Given the description of an element on the screen output the (x, y) to click on. 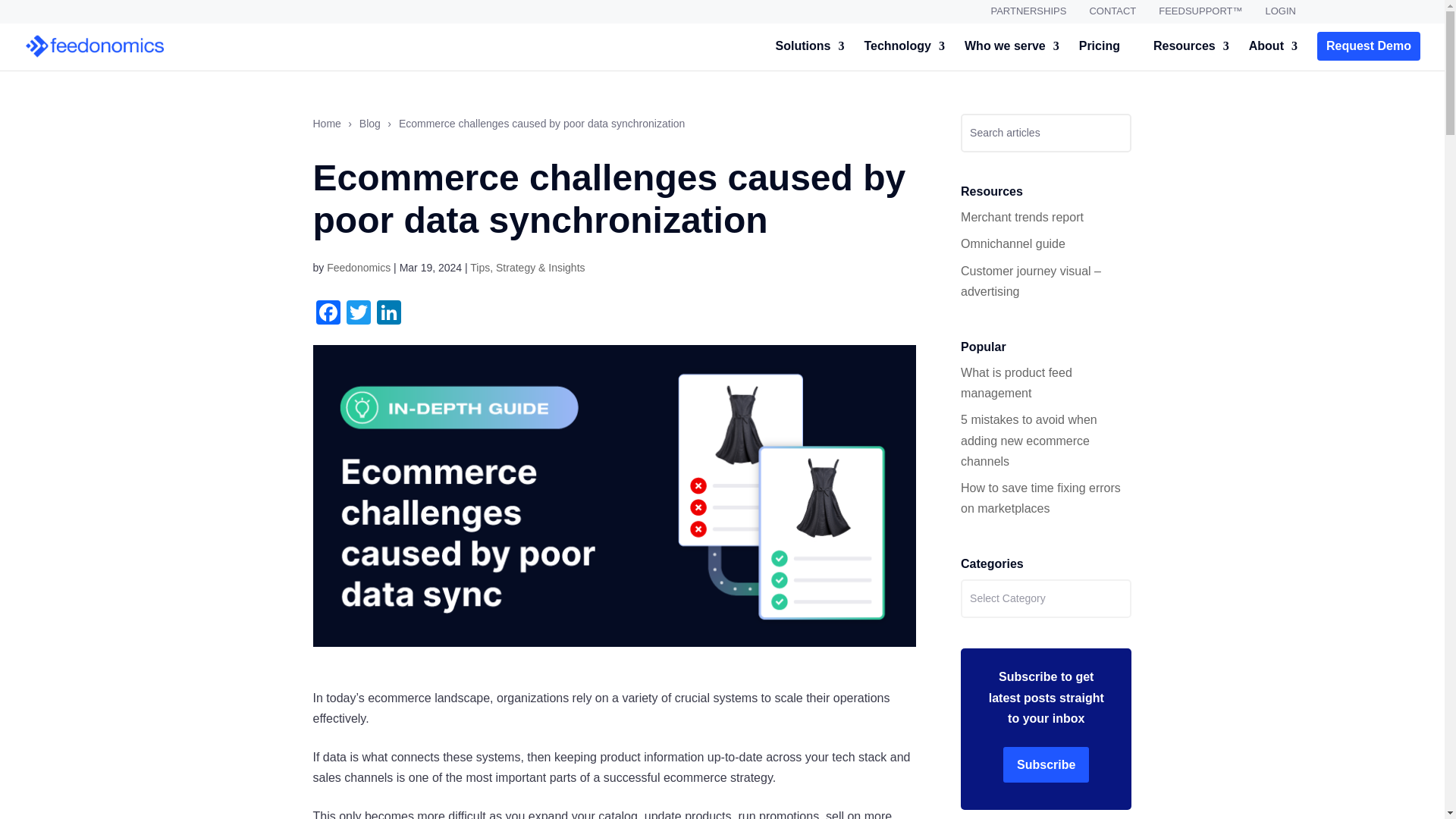
Facebook (327, 314)
LinkedIn (387, 314)
PARTNERSHIPS (1027, 14)
Pricing (1098, 52)
CONTACT (1112, 14)
Posts by Feedonomics (358, 267)
LOGIN (1280, 14)
Twitter (357, 314)
